Given the description of an element on the screen output the (x, y) to click on. 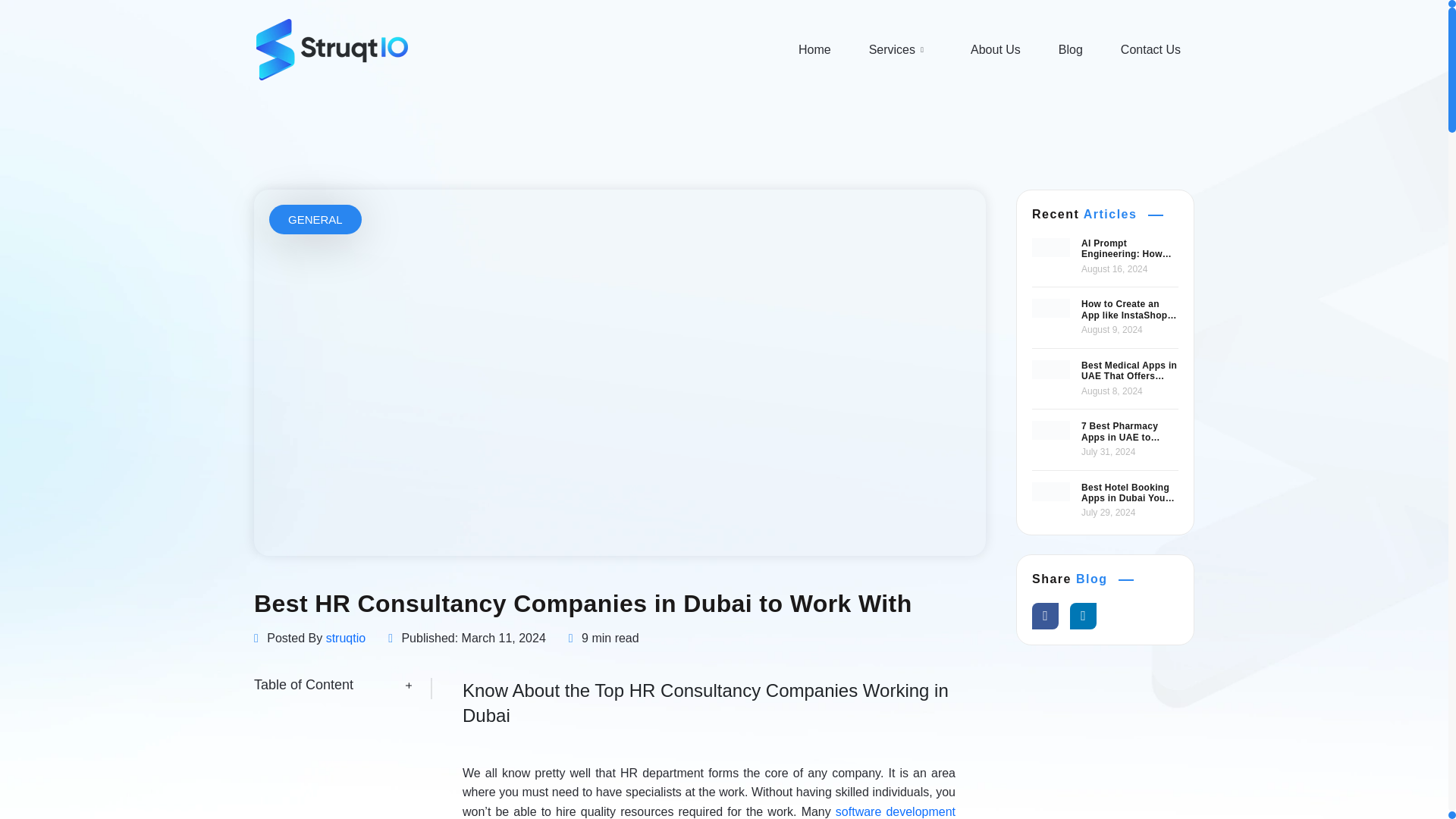
AI Prompt Engineering: How Does it Really Work? (1129, 249)
About Us (995, 48)
7 Best Pharmacy Apps in UAE to Order Medicines (1129, 431)
software development companies in UAE (709, 812)
Best Medical Apps in UAE That Offers Quick Response (1129, 371)
GENERAL (315, 219)
Services (901, 48)
Best Hotel Booking Apps in Dubai You Should Know in 2024 (1129, 493)
Contact Us (1150, 48)
struqtio (345, 638)
